Given the description of an element on the screen output the (x, y) to click on. 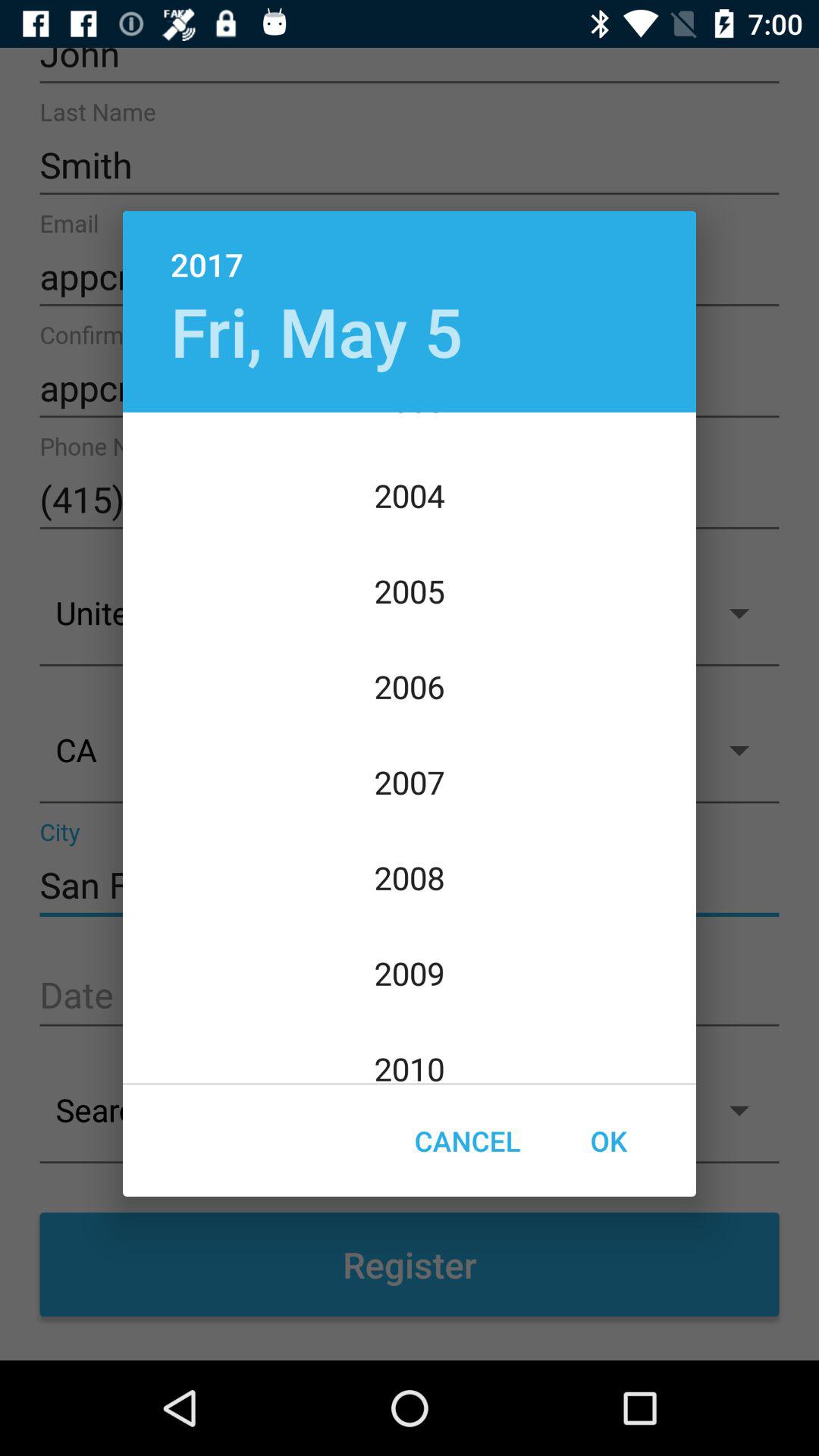
click the icon above 2003 (316, 331)
